Given the description of an element on the screen output the (x, y) to click on. 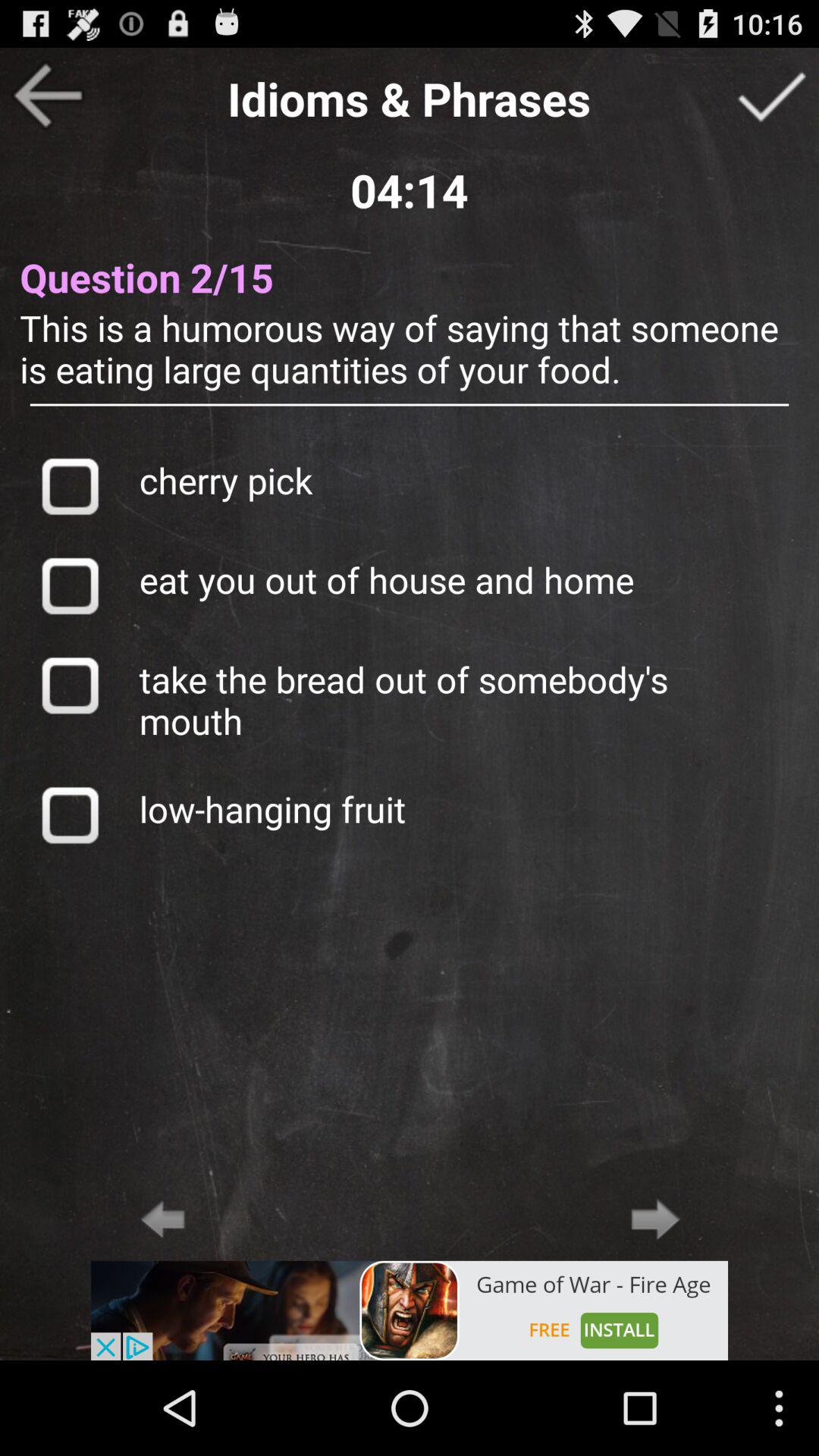
go to previous screen (47, 95)
